Given the description of an element on the screen output the (x, y) to click on. 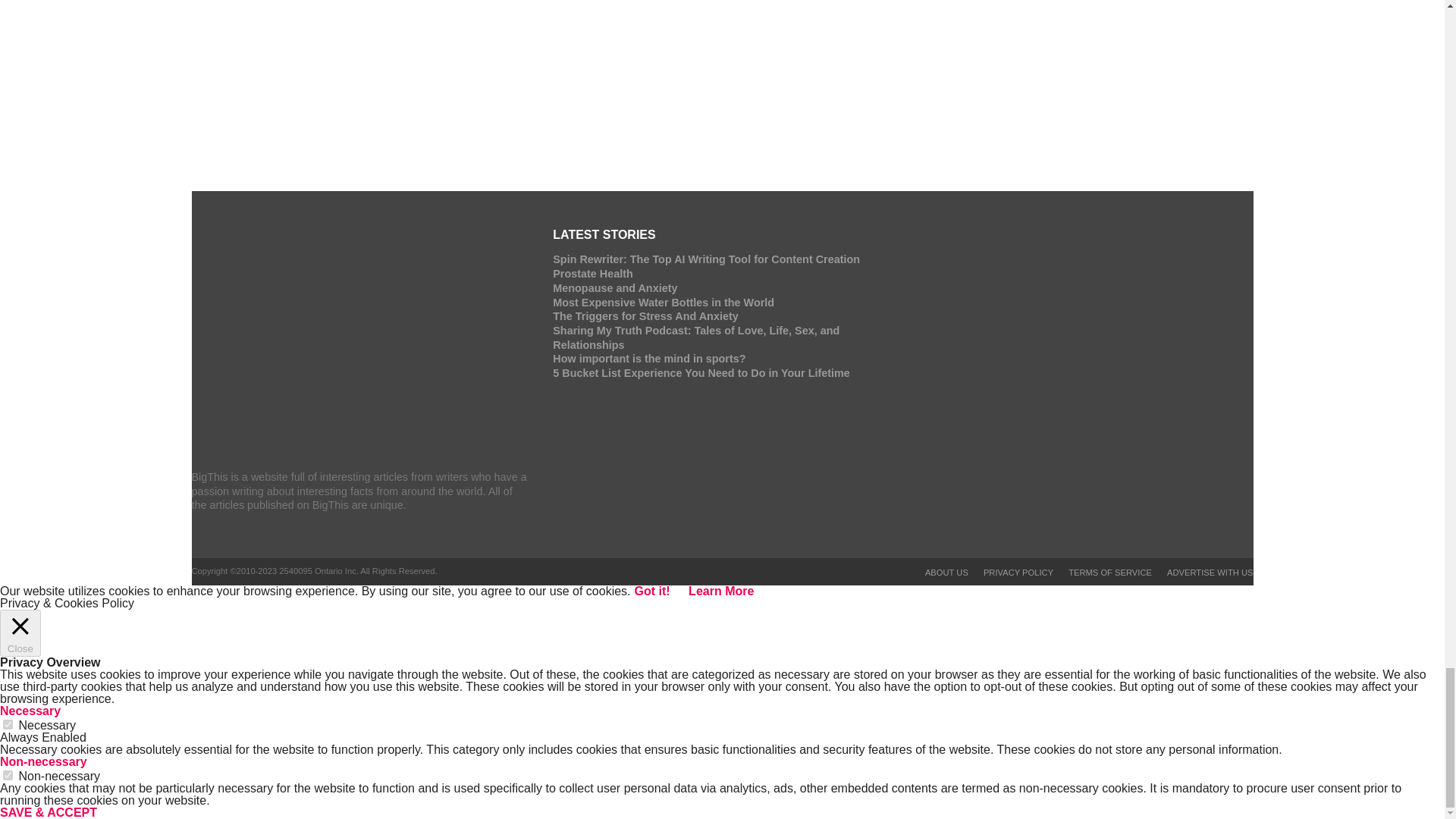
on (7, 775)
on (7, 724)
